Given the description of an element on the screen output the (x, y) to click on. 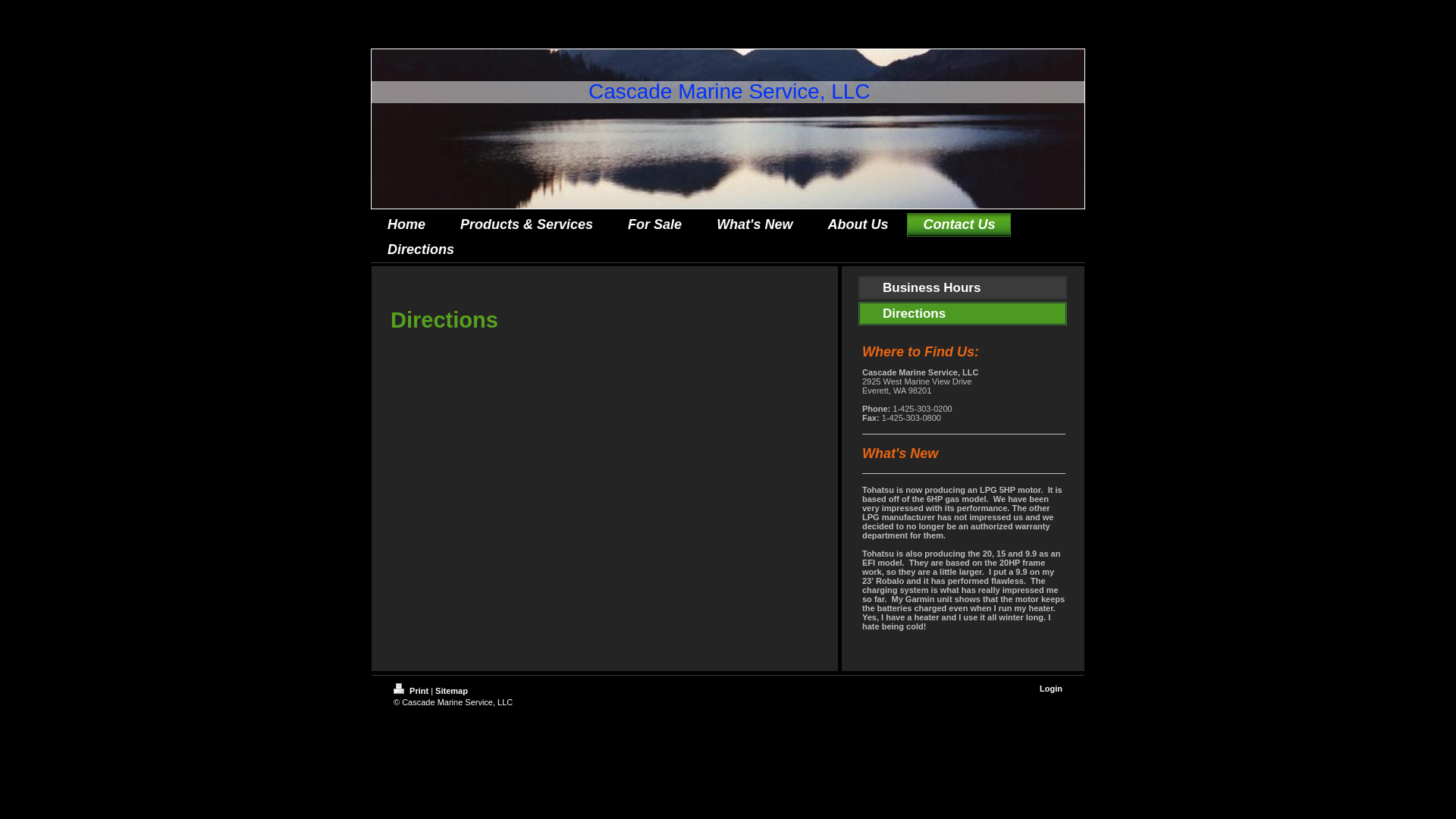
Sitemap (451, 690)
Contact Us (958, 224)
About Us (857, 224)
Directions (963, 313)
What's New (754, 224)
Login (1050, 687)
Home (406, 224)
Business Hours (963, 287)
Cascade Marine Service, LLC (729, 90)
For Sale (654, 224)
Print (411, 690)
Directions (420, 249)
